Given the description of an element on the screen output the (x, y) to click on. 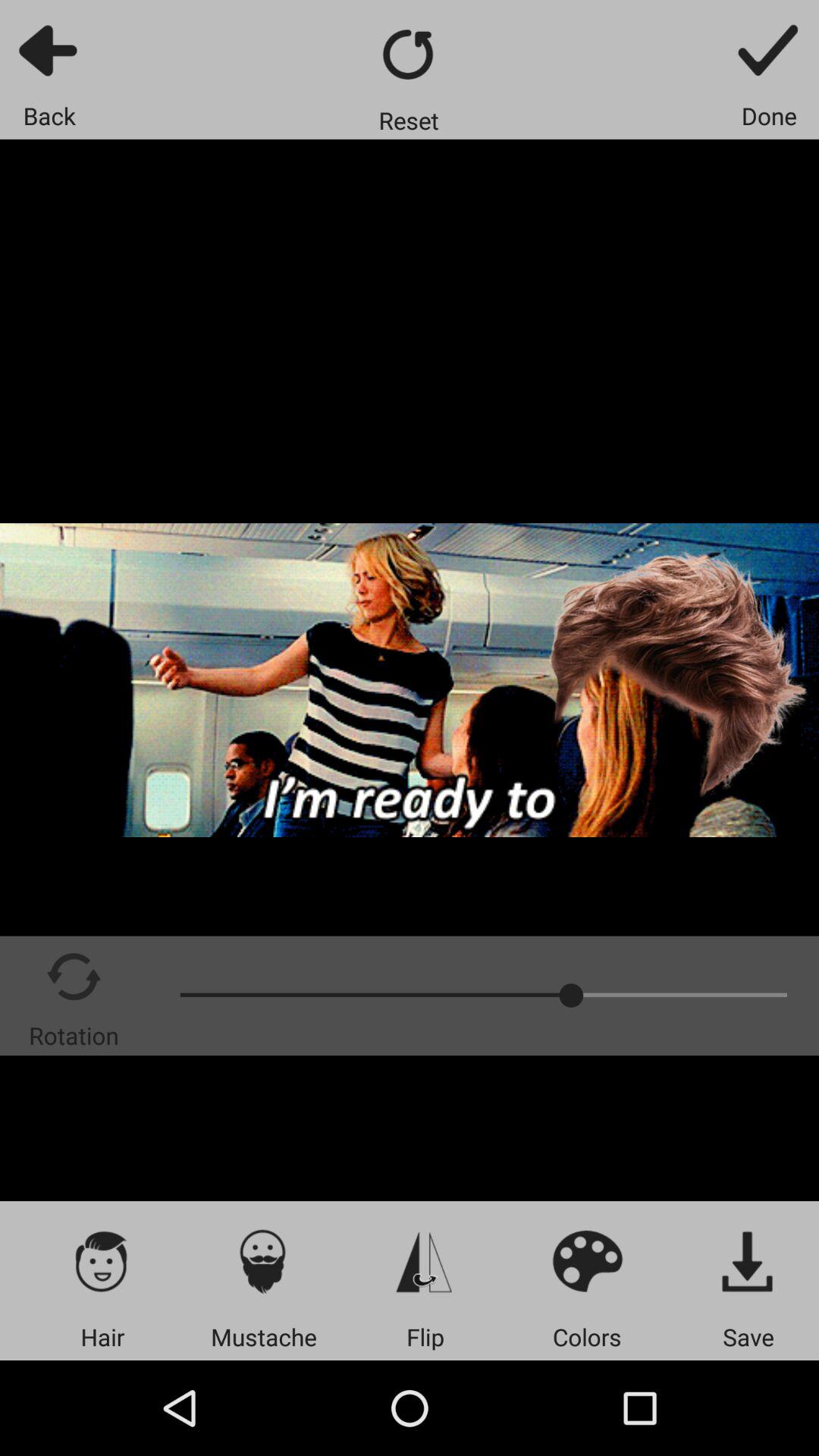
finish with your current edit (769, 49)
